Given the description of an element on the screen output the (x, y) to click on. 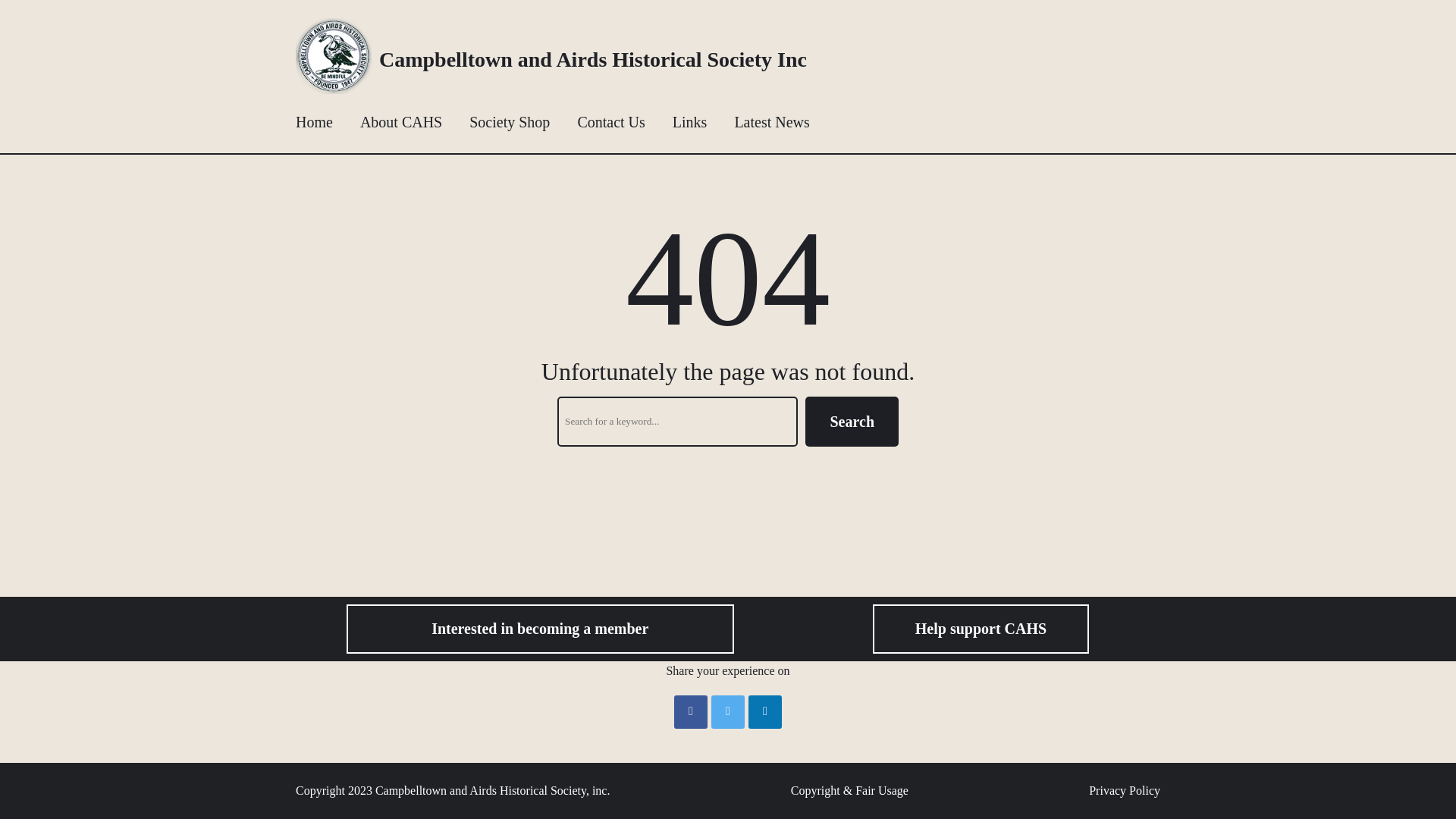
Interested in becoming a member Element type: text (540, 628)
Contact Us Element type: text (610, 121)
Search Element type: text (851, 421)
Help support CAHS Element type: text (980, 628)
Privacy Policy Element type: text (1124, 790)
Society Shop Element type: text (509, 121)
About CAHS Element type: text (401, 121)
Links Element type: text (689, 121)
Home Element type: text (313, 121)
Copyright & Fair Usage Element type: text (849, 790)
Campbelltown and Airds Historical Society Inc Element type: text (592, 59)
Latest News Element type: text (771, 121)
